Given the description of an element on the screen output the (x, y) to click on. 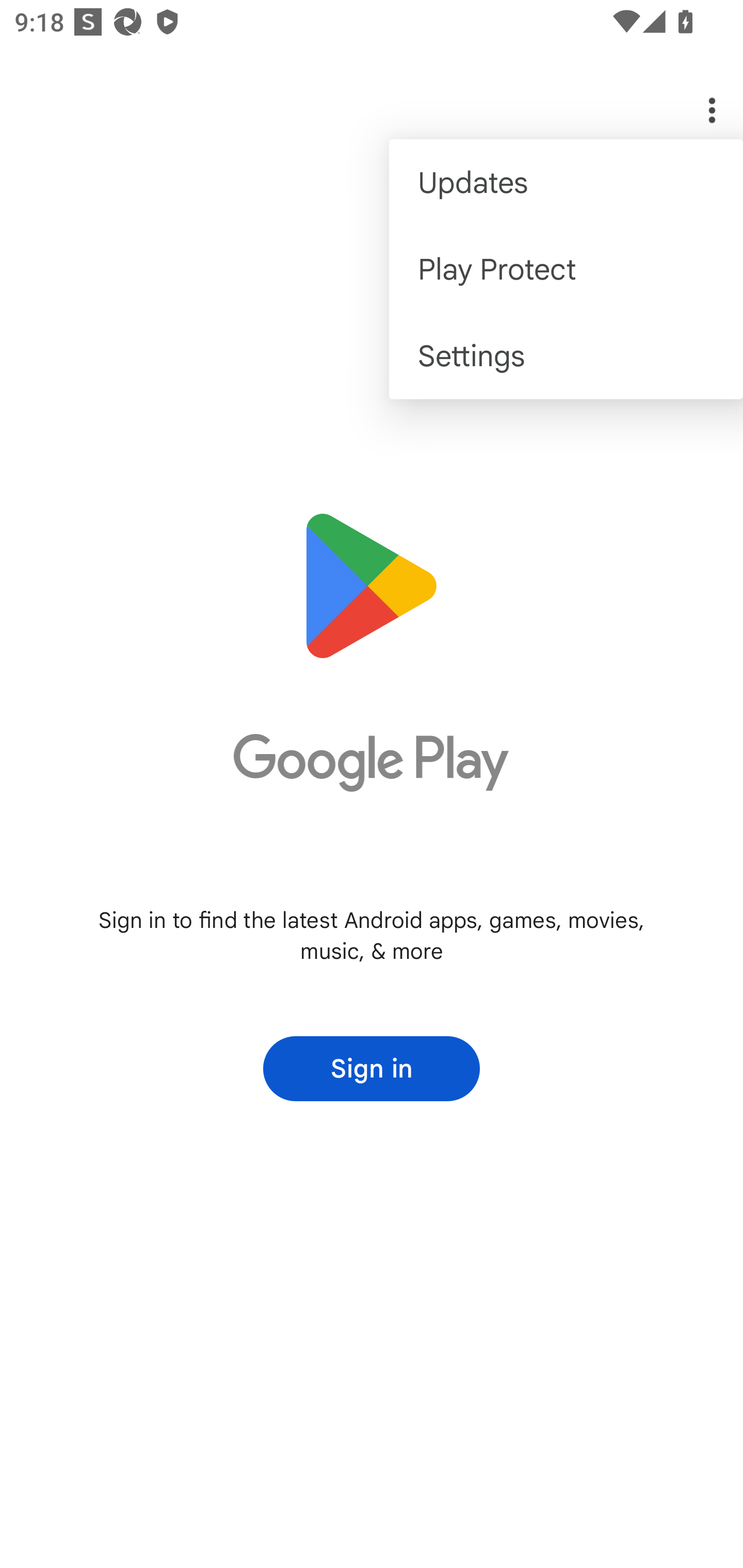
Updates (566, 182)
Play Protect (566, 268)
Settings (566, 355)
